Given the description of an element on the screen output the (x, y) to click on. 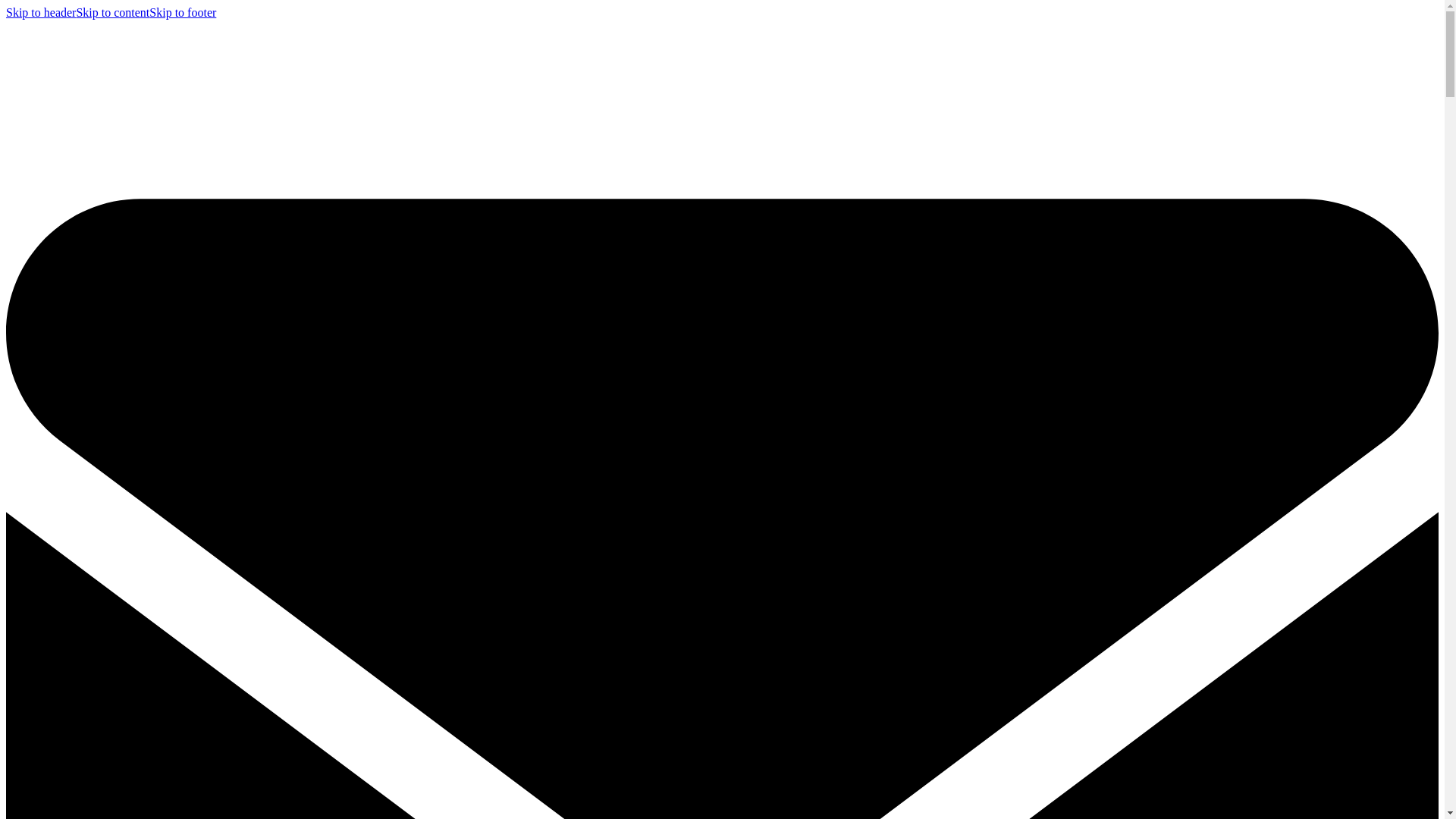
Skip to footer (182, 11)
Skip to header (40, 11)
Skip to content (112, 11)
